Given the description of an element on the screen output the (x, y) to click on. 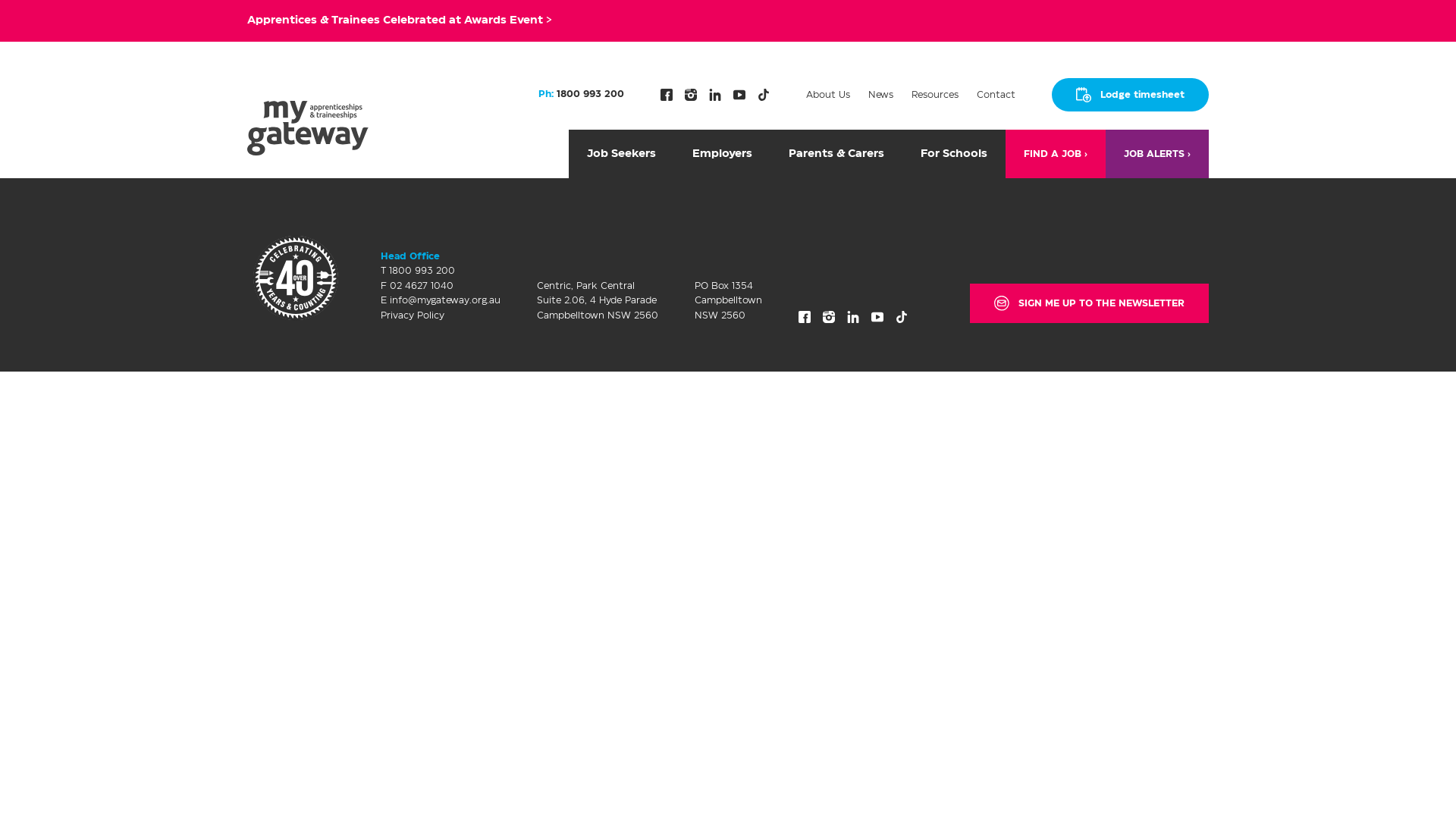
SIGN ME UP TO THE NEWSLETTER Element type: text (1088, 303)
About Us Element type: text (828, 94)
info@mygateway.org.au Element type: text (444, 299)
News Element type: text (880, 94)
Employers Element type: text (722, 153)
Contact Element type: text (995, 94)
Apprentices & Trainees Celebrated at Awards Event > Element type: text (399, 20)
For Schools Element type: text (953, 153)
Job Seekers Element type: text (621, 153)
Resources Element type: text (934, 94)
Privacy Policy Element type: text (412, 315)
Parents & Carers Element type: text (836, 153)
Lodge timesheet Element type: text (1129, 94)
